Given the description of an element on the screen output the (x, y) to click on. 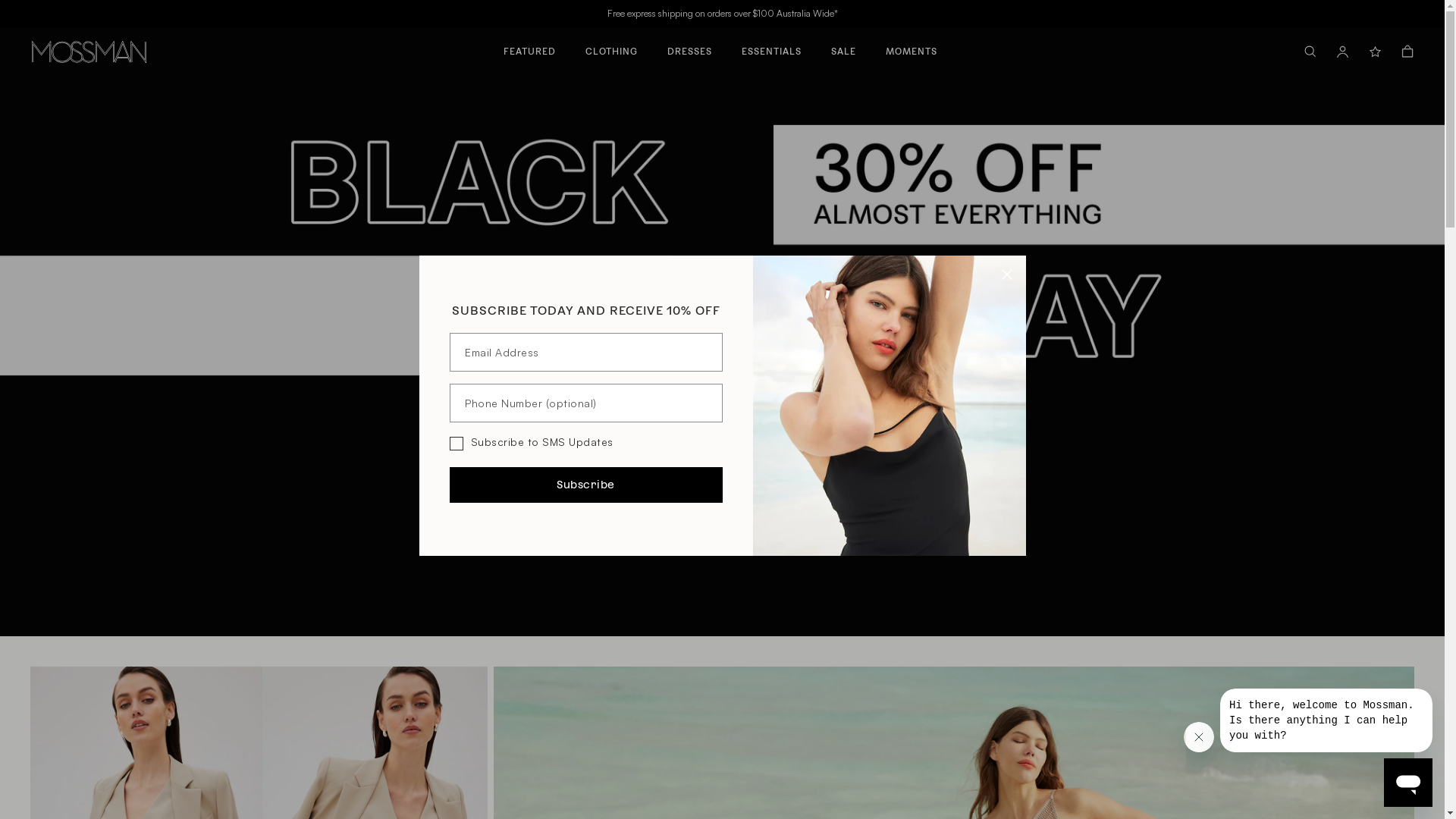
ESSENTIALS Element type: text (771, 45)
Close message Element type: hover (1198, 736)
Subscribe Element type: text (584, 484)
Search Element type: text (1309, 51)
Account Element type: text (1342, 52)
Message from company Element type: hover (1326, 720)
Button to launch messaging window Element type: hover (1407, 782)
$  AUD
Down Element type: text (1387, 13)
SALE Element type: text (843, 45)
CLOTHING Element type: text (611, 45)
Mossman Element type: hover (88, 51)
FEATURED Element type: text (529, 45)
DRESSES Element type: text (689, 45)
MOMENTS Element type: text (911, 45)
Cart Element type: text (1407, 51)
